Given the description of an element on the screen output the (x, y) to click on. 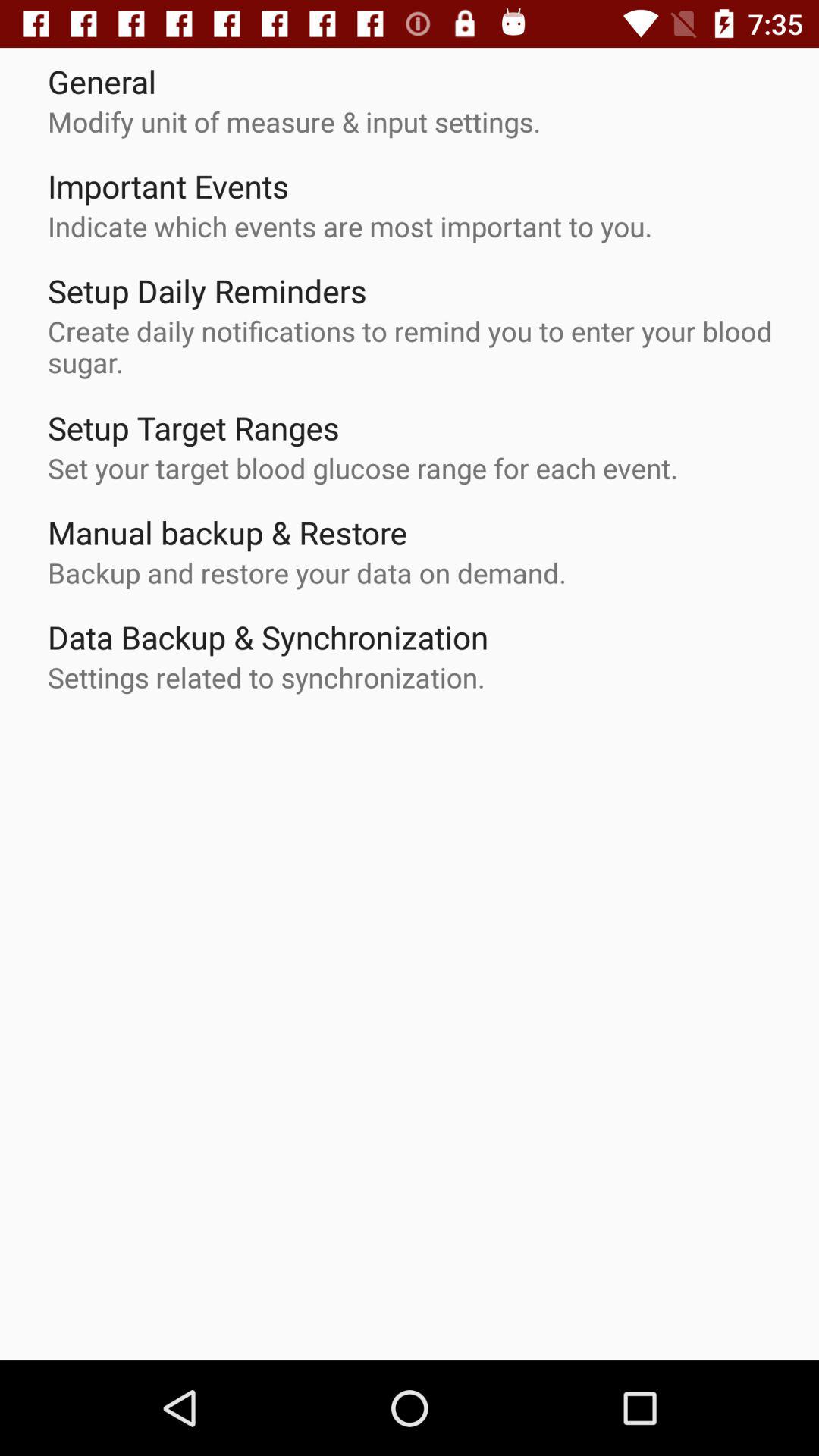
turn off the item below general (293, 121)
